Given the description of an element on the screen output the (x, y) to click on. 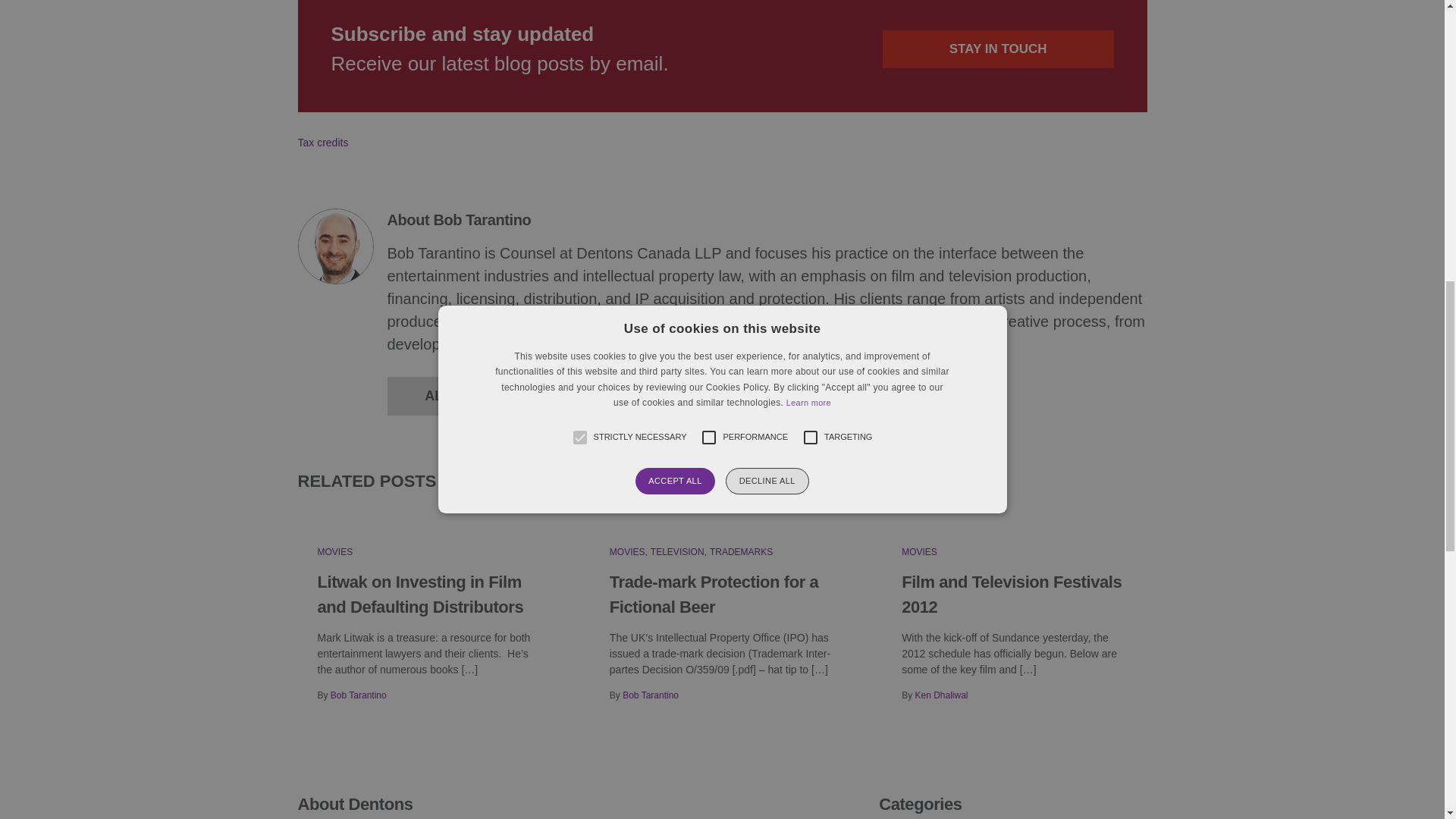
TRADEMARKS (741, 552)
STAY IN TOUCH (997, 48)
Film and Television Festivals 2012 (1011, 594)
FULL BIO (624, 395)
Ken Dhaliwal (941, 695)
Litwak on Investing in Film and Defaulting Distributors (419, 594)
Bob Tarantino (358, 695)
TELEVISION (677, 552)
ALL POSTS (462, 395)
MOVIES (334, 552)
MOVIES (919, 552)
MOVIES (627, 552)
Tax credits (322, 142)
Trade-mark Protection for a Fictional Beer (714, 594)
Bob Tarantino (650, 695)
